Given the description of an element on the screen output the (x, y) to click on. 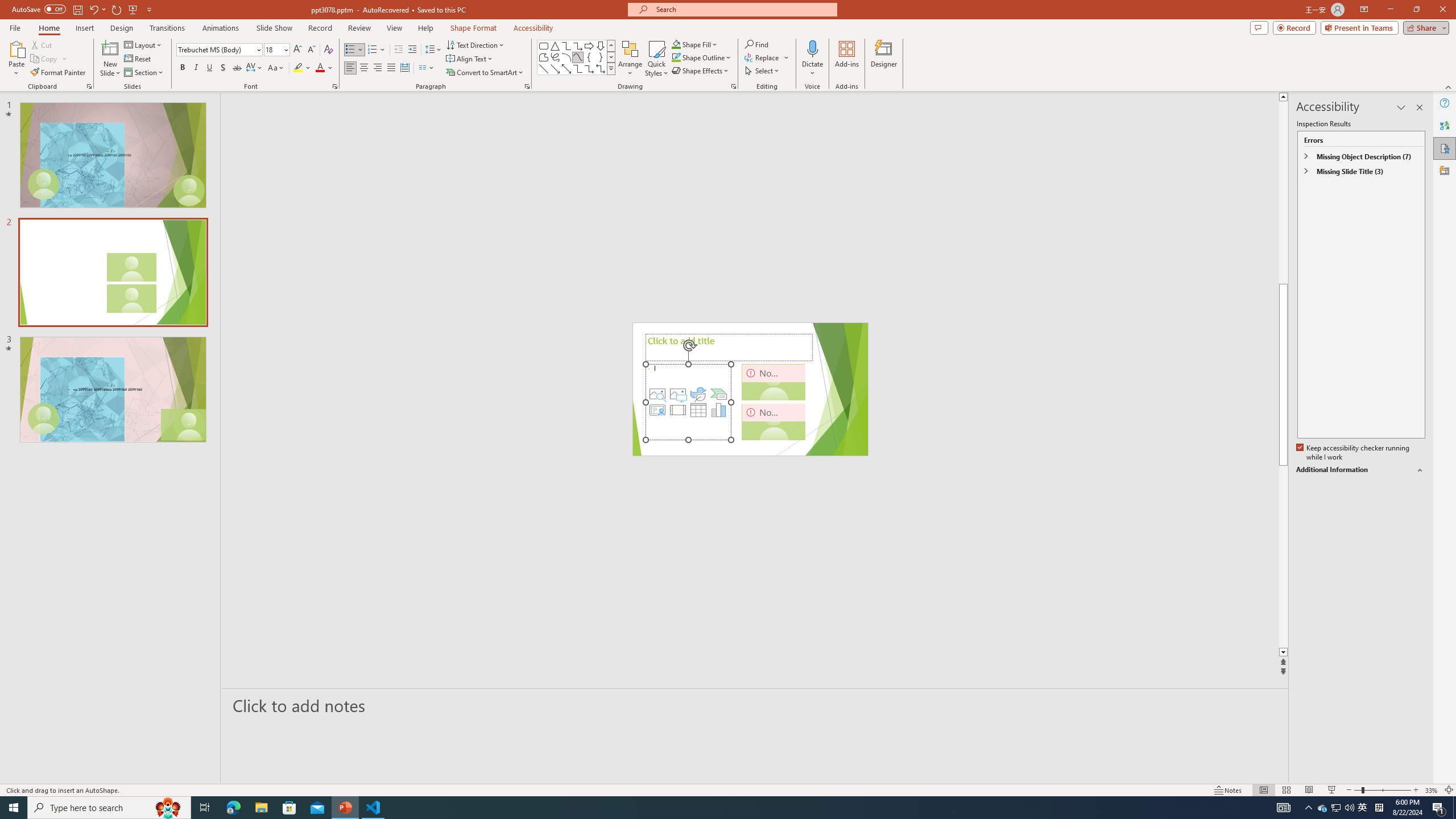
Insert a SmartArt Graphic (719, 394)
Keep accessibility checker running while I work (1353, 452)
